Given the description of an element on the screen output the (x, y) to click on. 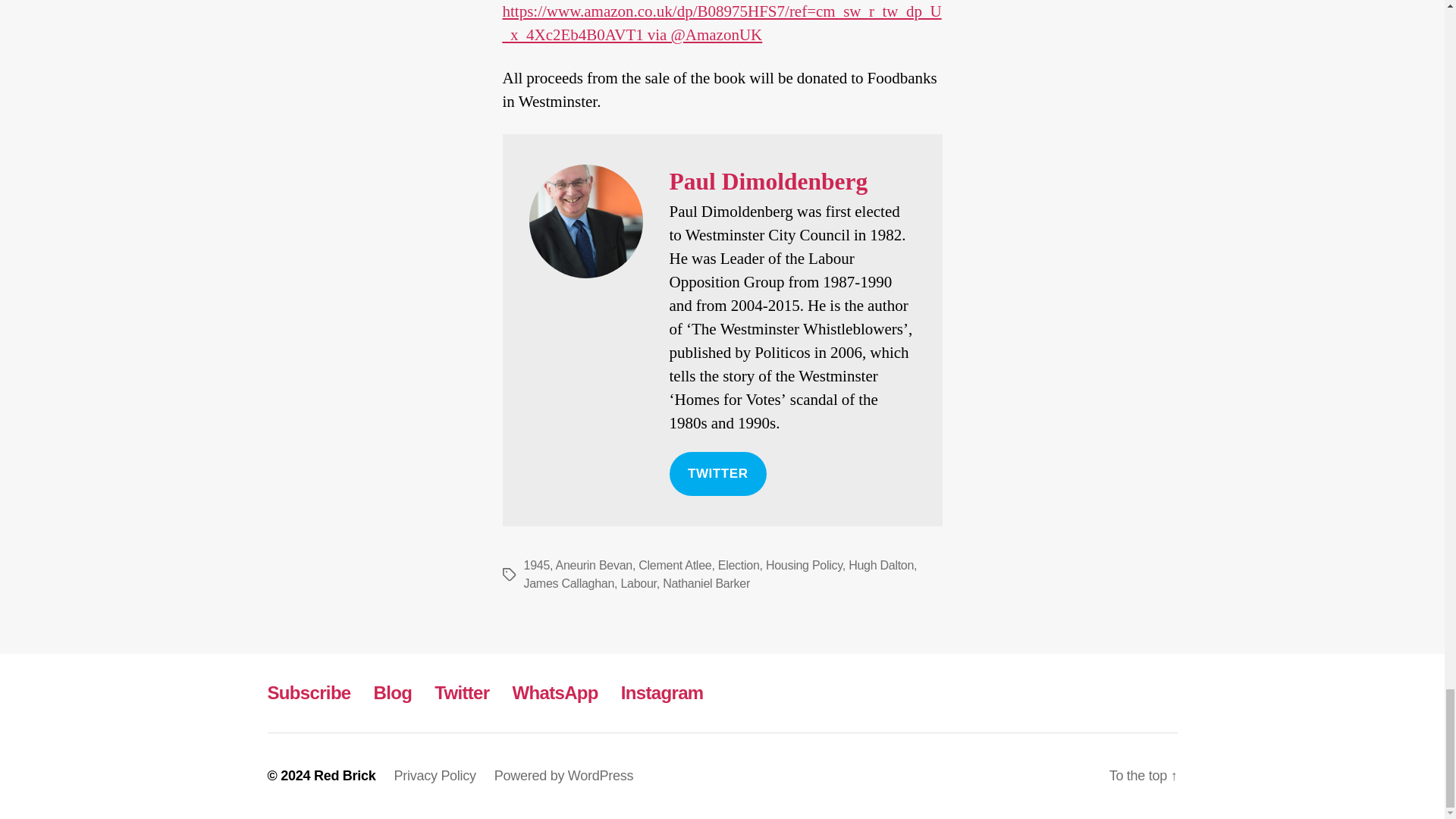
1945 (536, 564)
Hugh Dalton (881, 564)
Election (738, 564)
James Callaghan (568, 583)
Housing Policy (804, 564)
Aneurin Bevan (592, 564)
TWITTER (716, 474)
Clement Atlee (675, 564)
